Given the description of an element on the screen output the (x, y) to click on. 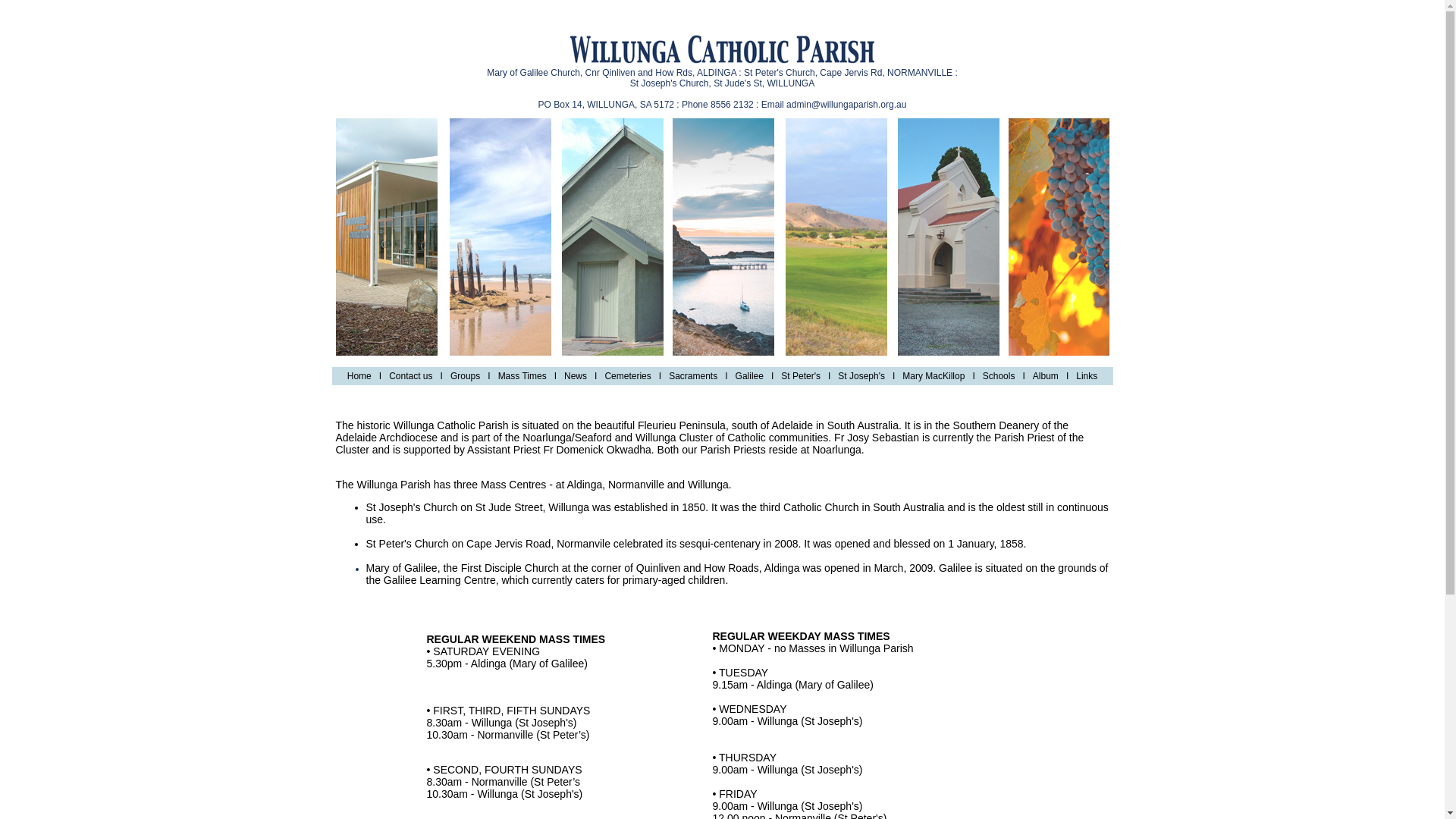
Groups Element type: text (465, 375)
Album Element type: text (1045, 375)
Contact us Element type: text (410, 375)
Home Element type: text (359, 375)
Links Element type: text (1086, 375)
News Element type: text (575, 375)
St Peter's Element type: text (800, 375)
Mass Times Element type: text (522, 375)
Cemeteries Element type: text (627, 375)
Sacraments Element type: text (692, 375)
Mary MacKillop Element type: text (933, 375)
Galilee Element type: text (749, 375)
St Joseph's Element type: text (860, 375)
Schools Element type: text (998, 375)
